Given the description of an element on the screen output the (x, y) to click on. 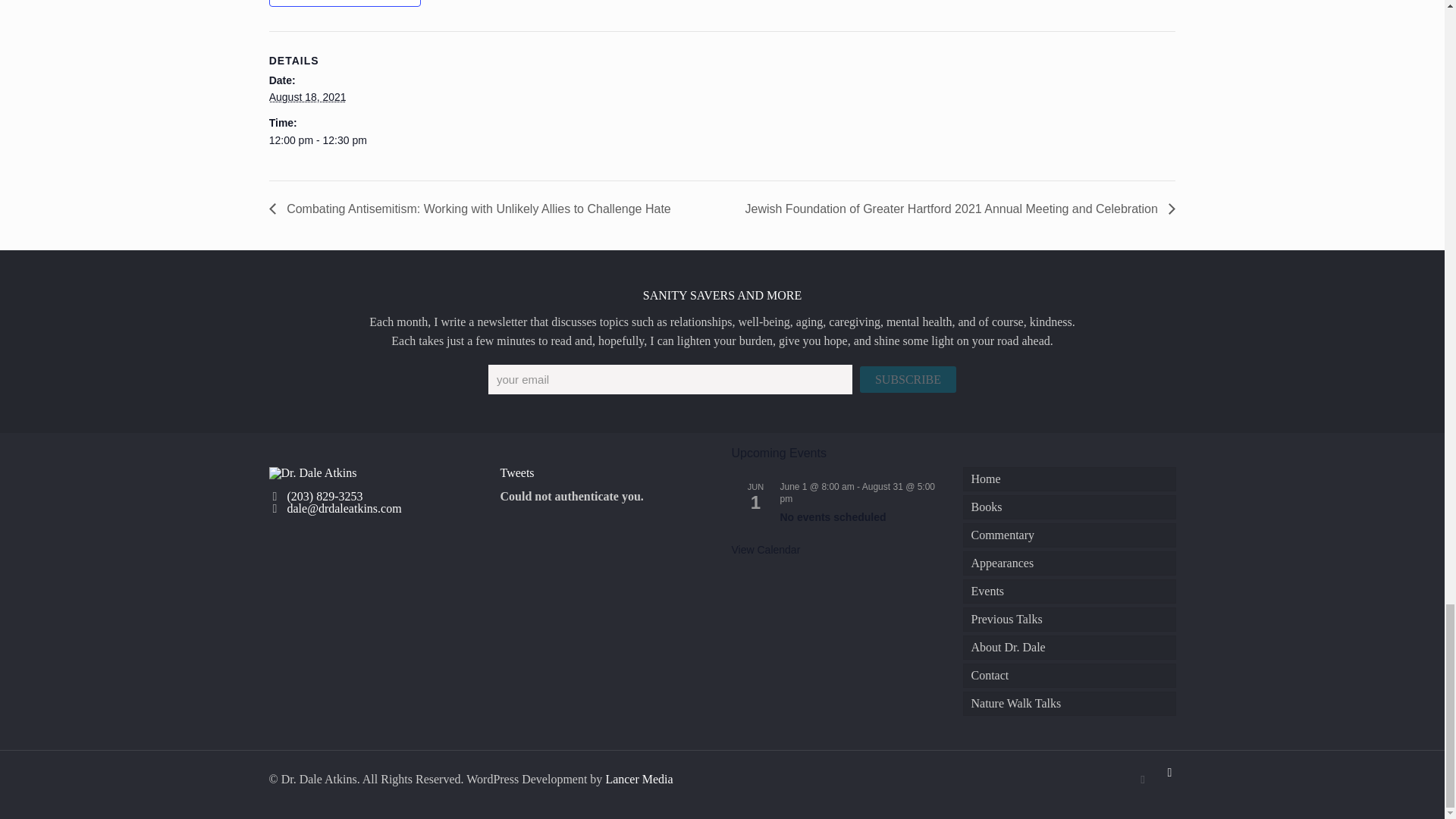
No events scheduled (831, 517)
2021-08-18 (307, 96)
View more events. (764, 549)
BookBub (1142, 779)
No events scheduled (831, 517)
Subscribe (908, 379)
2021-08-18 (713, 140)
View Calendar (764, 549)
Subscribe (908, 379)
